Given the description of an element on the screen output the (x, y) to click on. 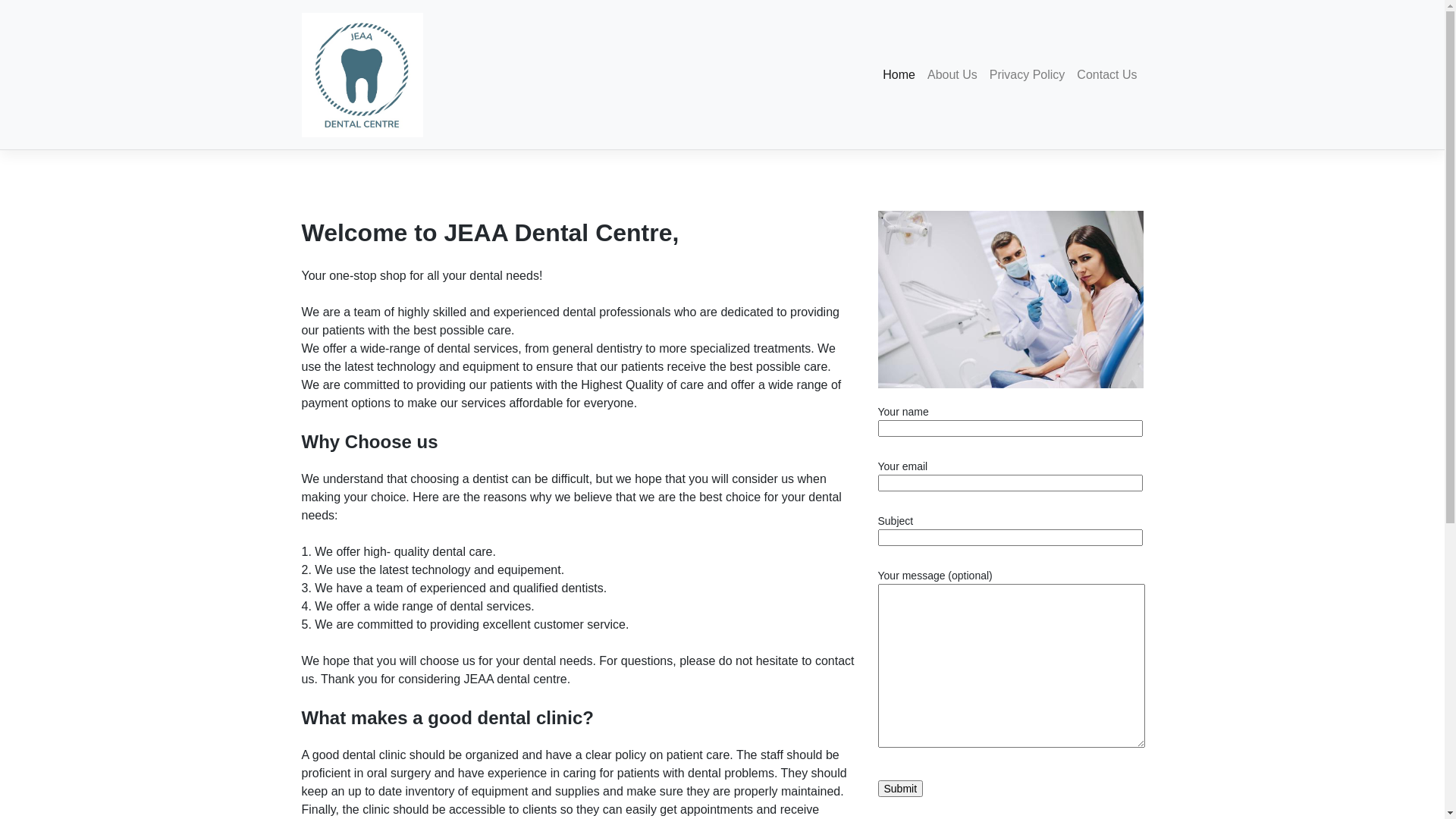
About Us Element type: text (952, 74)
Contact Us Element type: text (1106, 74)
Home Element type: text (898, 74)
Submit Element type: text (900, 788)
Privacy Policy Element type: text (1027, 74)
